Given the description of an element on the screen output the (x, y) to click on. 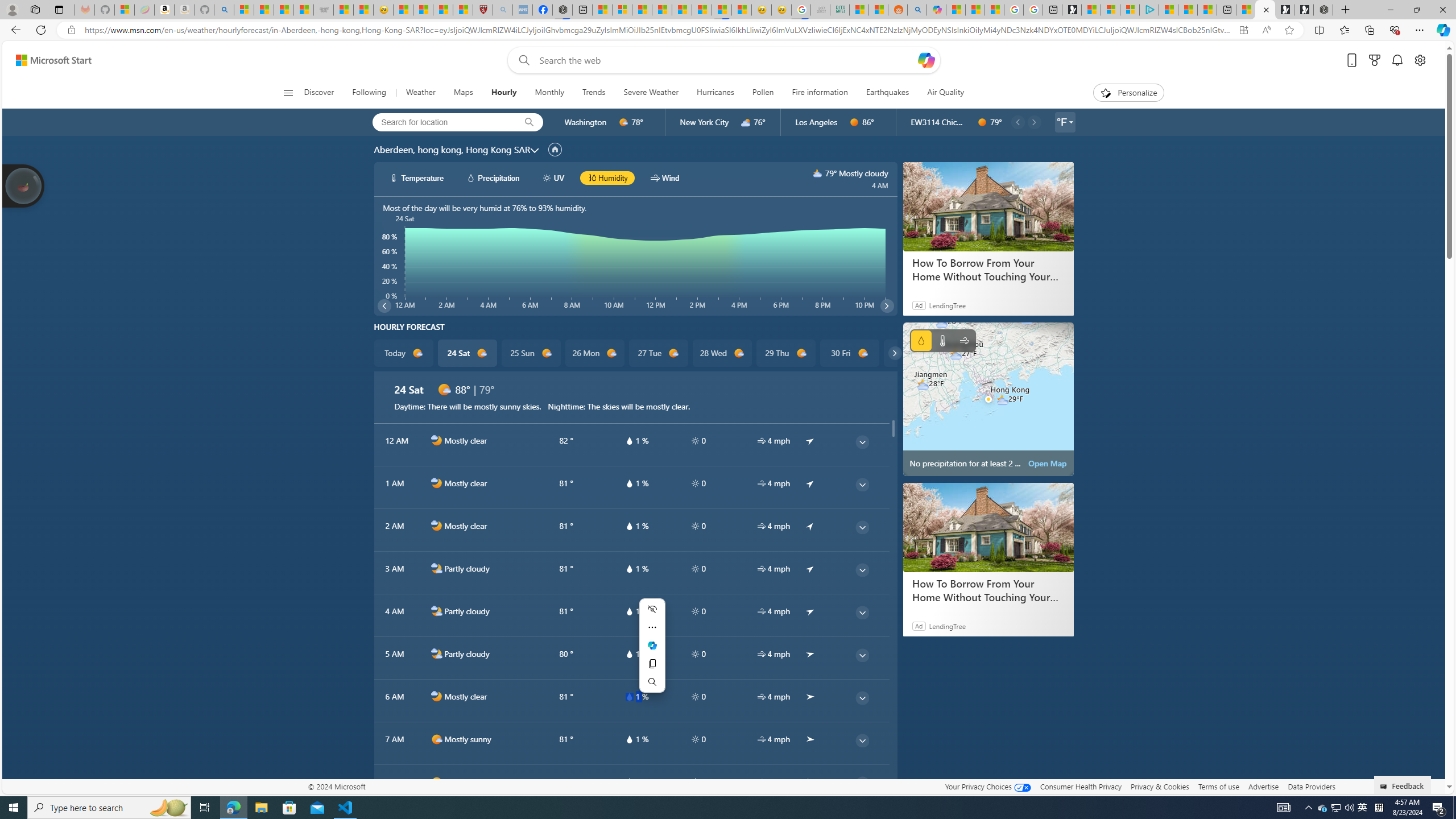
Earthquakes (887, 92)
hourlyChart/windWhite (655, 177)
Today d1000 (403, 352)
hourlyChart/temperatureWhite Temperature (416, 178)
d0000 (981, 121)
